Given the description of an element on the screen output the (x, y) to click on. 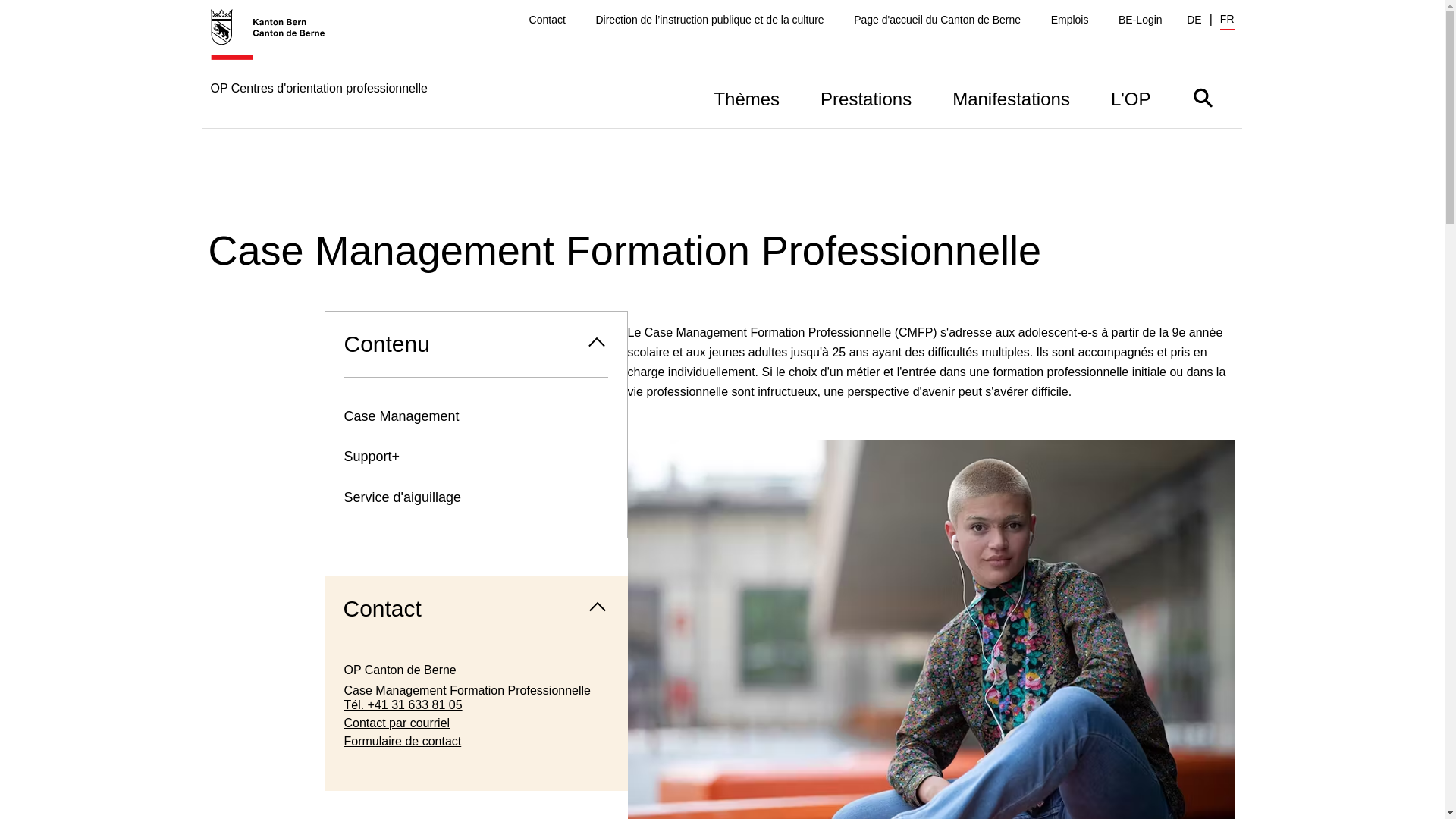
Contact Element type: text (547, 19)
Manifestations Element type: text (1010, 96)
OP Centres d'orientation professionnelle Element type: text (318, 68)
BE-Login Element type: text (1140, 19)
Afficher/masquer la barre de recherche Element type: text (1201, 96)
Prestations Element type: text (865, 96)
Contact Element type: text (475, 608)
Case Management Element type: text (475, 416)
L'OP Element type: text (1130, 96)
Page d'accueil du Canton de Berne Element type: text (936, 19)
Contact par courriel Element type: text (476, 722)
Support+ Element type: text (475, 456)
Formulaire de contact Element type: text (476, 741)
Contenu Element type: text (475, 343)
FR Element type: text (1227, 21)
Emplois Element type: text (1069, 19)
Service d'aiguillage Element type: text (475, 497)
DE Element type: text (1193, 19)
